Given the description of an element on the screen output the (x, y) to click on. 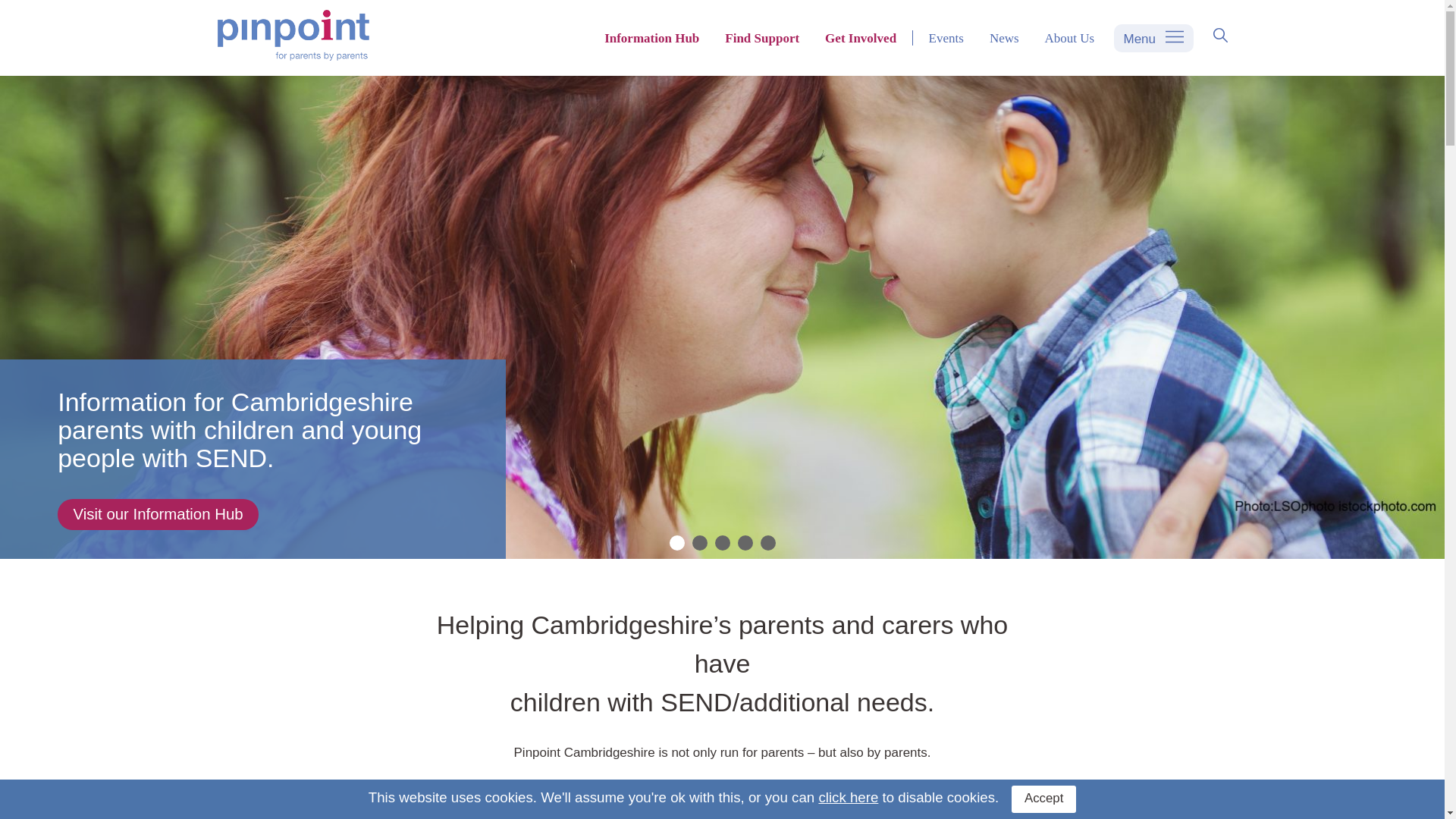
Information Hub (651, 37)
